Given the description of an element on the screen output the (x, y) to click on. 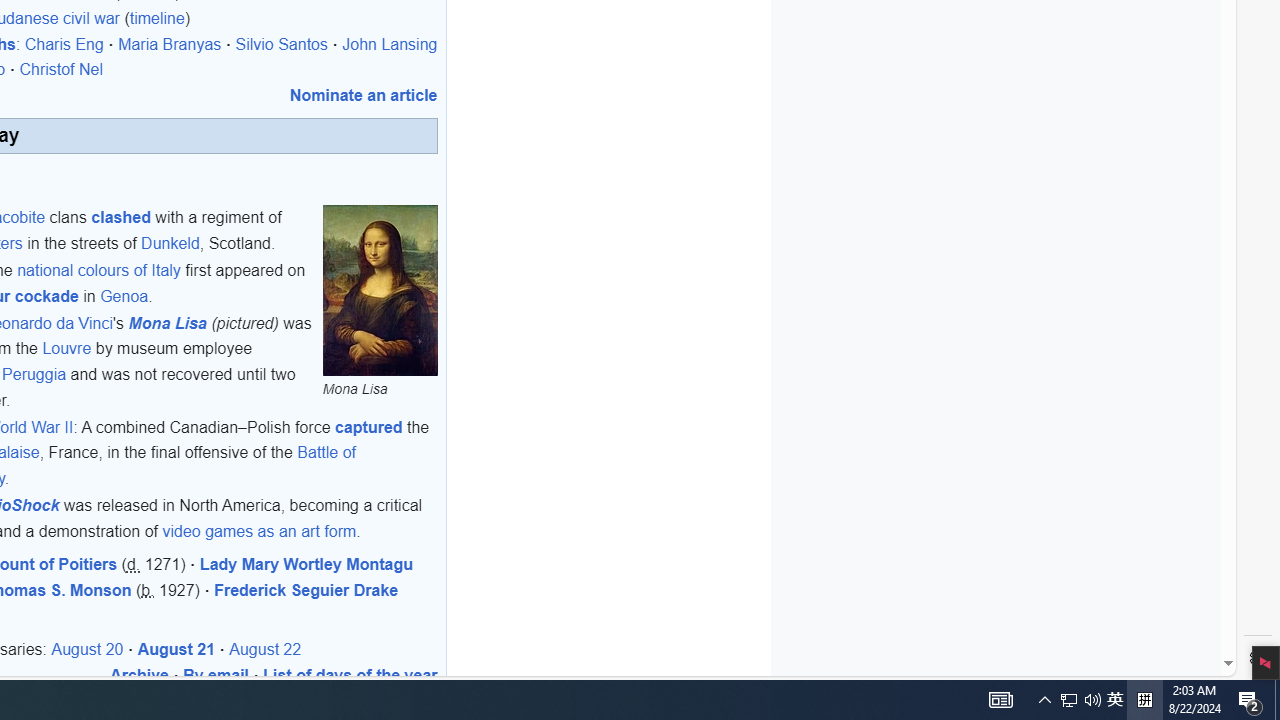
Charis Eng (63, 44)
captured (369, 427)
Genoa (123, 296)
Christof Nel (61, 70)
Louvre (67, 348)
Maria Branyas (169, 44)
Mona Lisa (379, 291)
August 22 (265, 649)
Archive (139, 675)
timeline (157, 19)
